Given the description of an element on the screen output the (x, y) to click on. 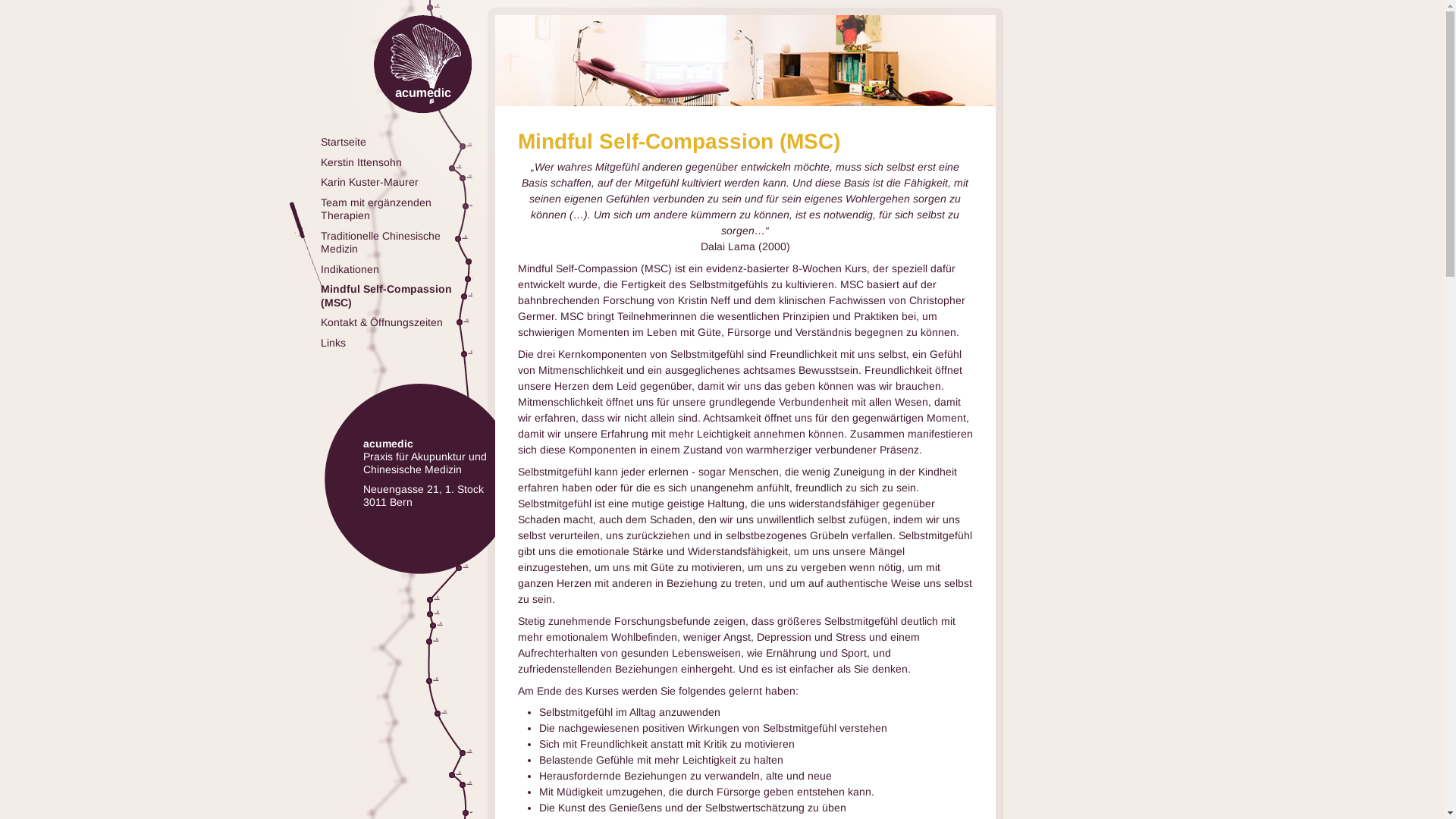
Karin Kuster-Maurer Element type: text (395, 182)
Links Element type: text (395, 343)
Kerstin Ittensohn Element type: text (395, 162)
Traditionelle Chinesische Medizin Element type: text (395, 242)
Indikationen Element type: text (395, 269)
Startseite Element type: text (395, 142)
